Given the description of an element on the screen output the (x, y) to click on. 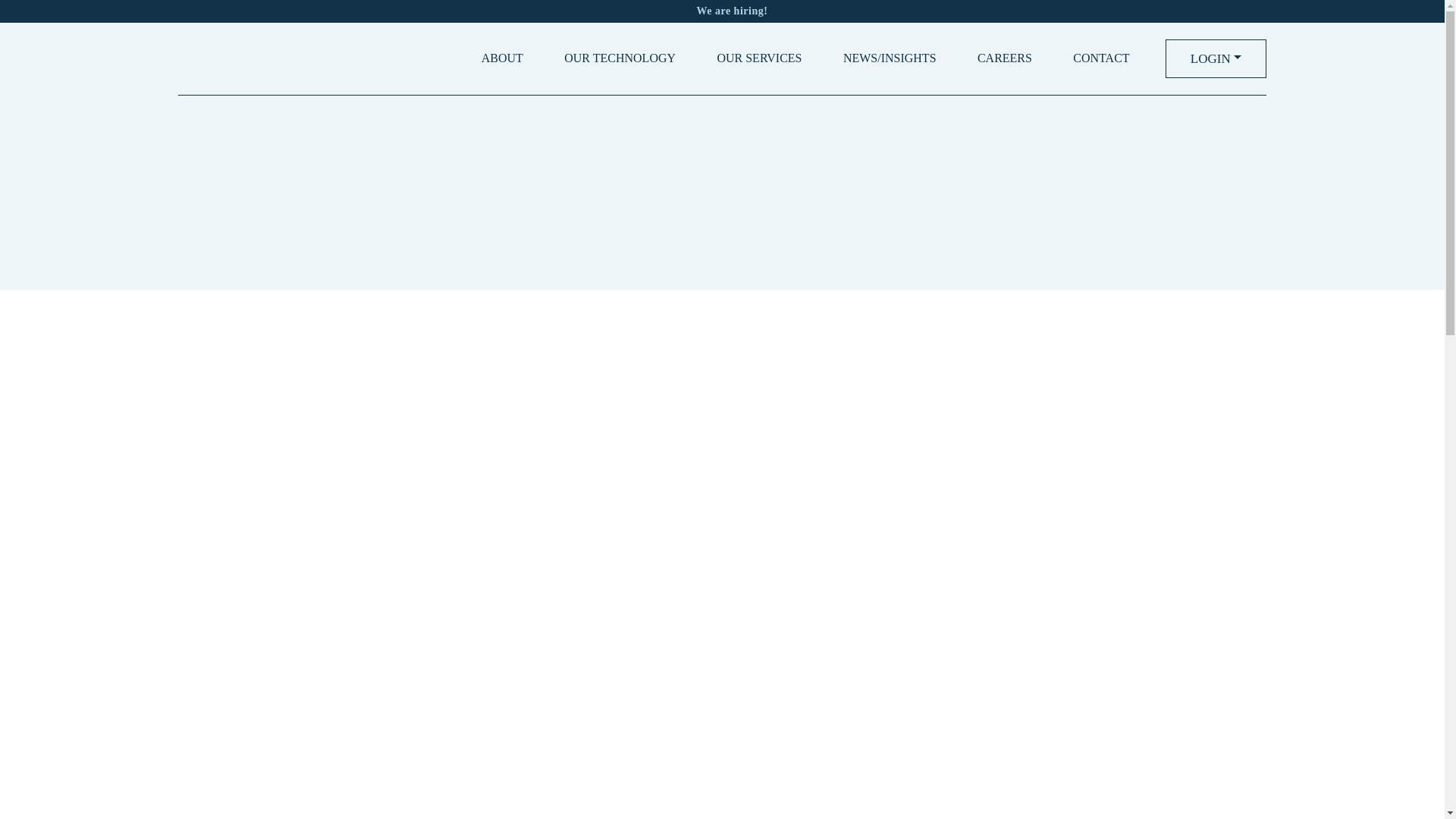
ABOUT Element type: text (502, 58)
OUR TECHNOLOGY Element type: text (619, 58)
CAREERS Element type: text (1004, 58)
We are hiring! Element type: text (722, 11)
OUR SERVICES Element type: text (759, 58)
CONTACT Element type: text (1101, 58)
NEWS/INSIGHTS Element type: text (889, 58)
LOGIN Element type: text (1215, 58)
